Given the description of an element on the screen output the (x, y) to click on. 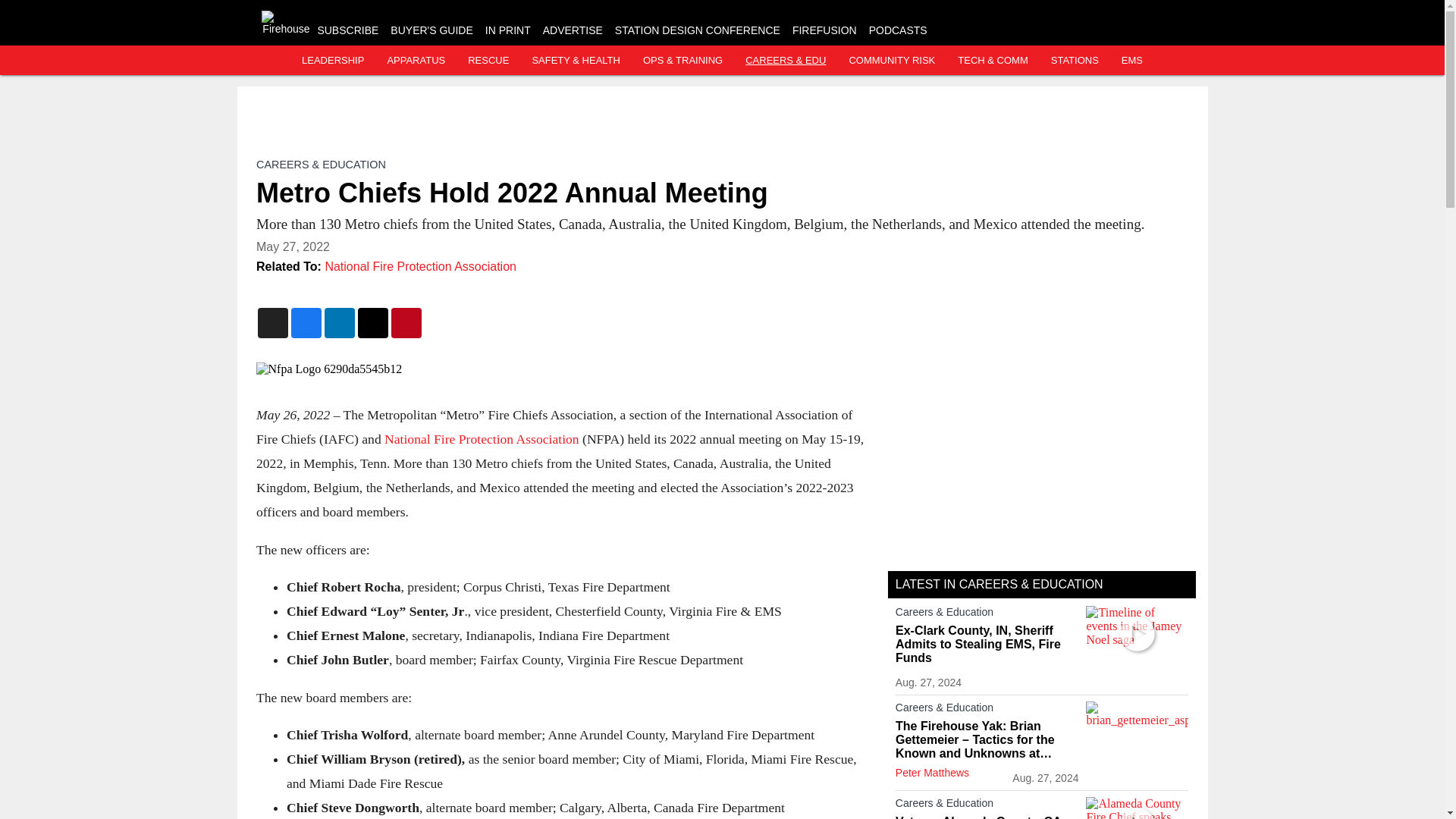
STATION DESIGN CONFERENCE (697, 30)
Timeline of events in the Jamey Noel saga (1137, 634)
EMS (1131, 60)
APPARATUS (416, 60)
National Fire Protection Association (481, 438)
LEADERSHIP (332, 60)
PODCASTS (898, 30)
SUBSCRIBE (347, 30)
ADVERTISE (572, 30)
IN PRINT (507, 30)
